Given the description of an element on the screen output the (x, y) to click on. 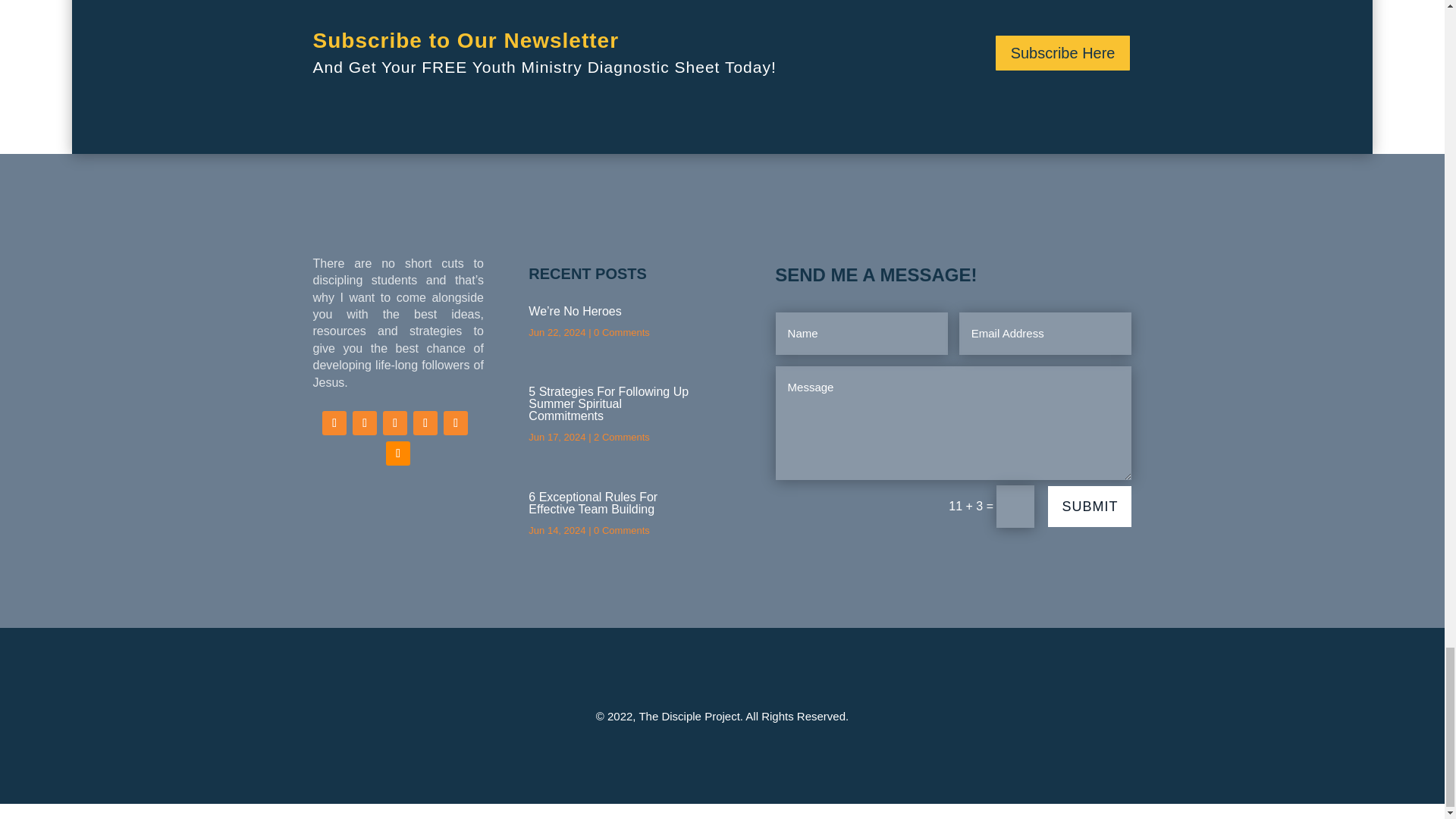
Subscribe Here (1063, 53)
Follow on Youtube (455, 422)
Follow on LinkedIn (425, 422)
Follow on X (364, 422)
Follow on Facebook (333, 422)
Follow on SoundCloud (397, 453)
Follow on Instagram (394, 422)
